Given the description of an element on the screen output the (x, y) to click on. 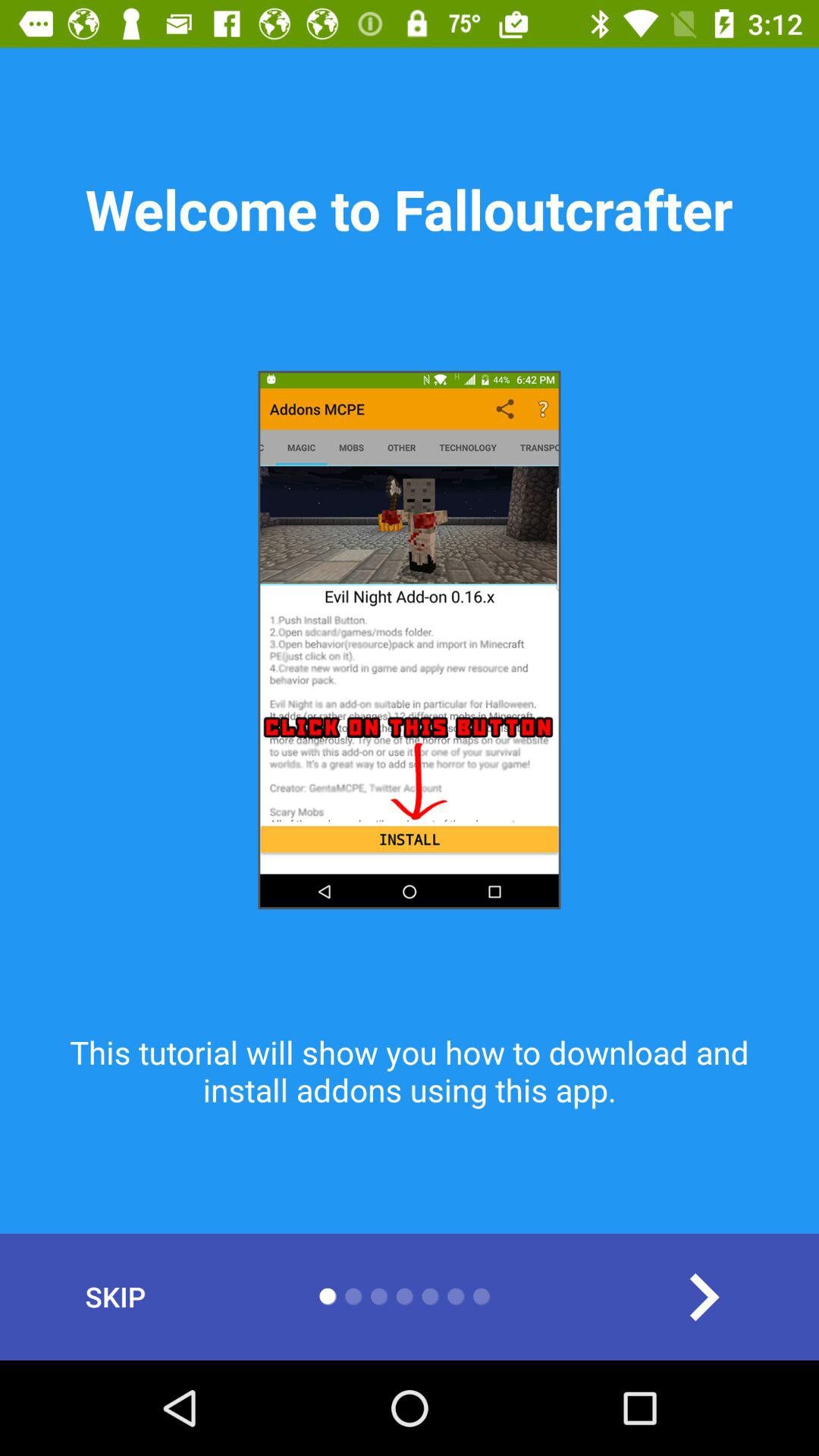
move forward (703, 1296)
